Given the description of an element on the screen output the (x, y) to click on. 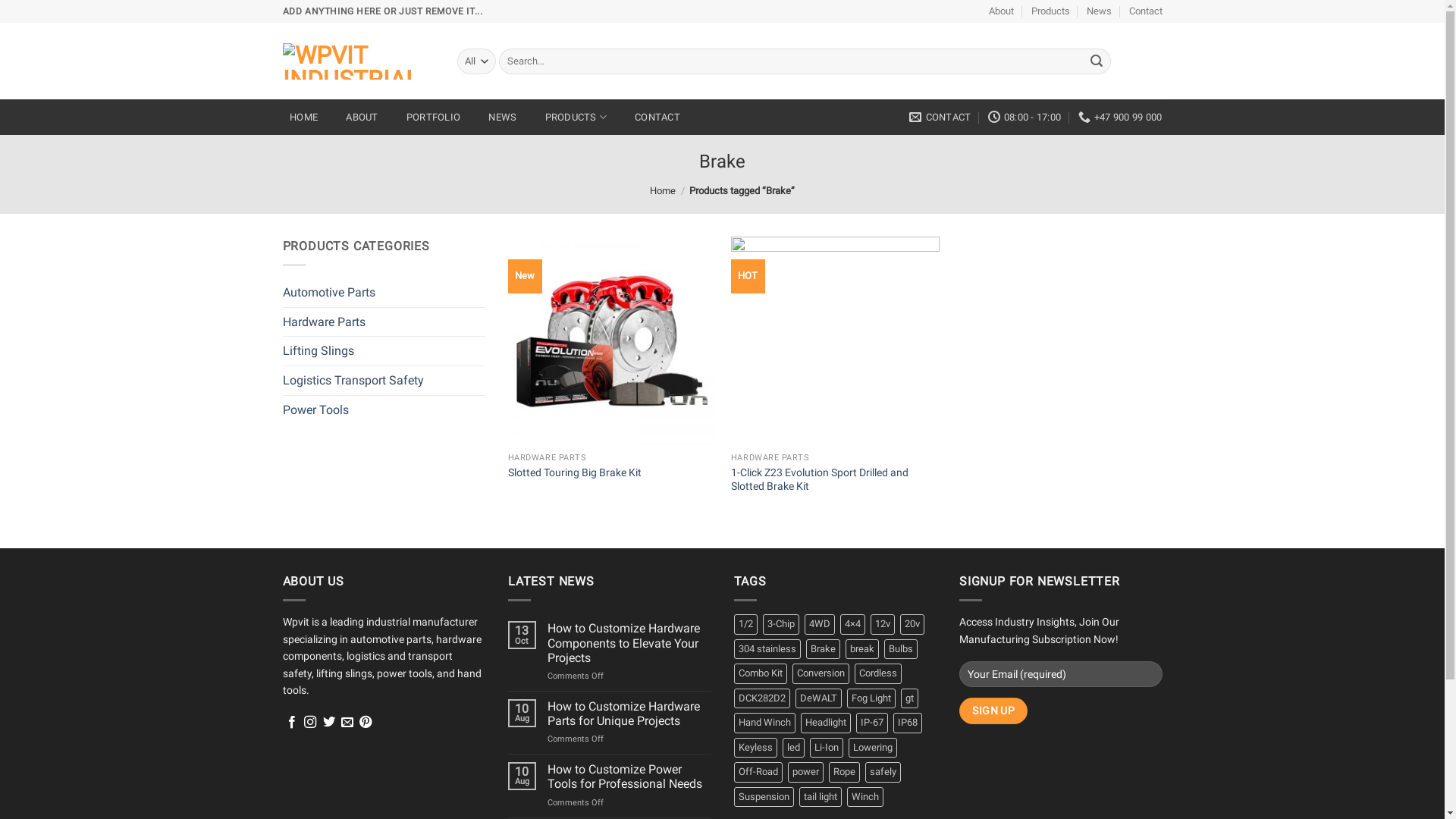
gt Element type: text (909, 698)
Products Element type: text (1050, 11)
break Element type: text (861, 648)
ABOUT Element type: text (361, 116)
How to Customize Power Tools for Professional Needs Element type: text (629, 776)
Follow on Facebook Element type: hover (291, 722)
Winch Element type: text (864, 796)
Contact Element type: text (1144, 11)
How to Customize Hardware Parts for Unique Projects Element type: text (629, 713)
Li-Ion Element type: text (826, 747)
304 stainless Element type: text (767, 648)
PORTFOLIO Element type: text (432, 116)
Wpvit Industrial Solutions: Safety, Lifting, and Tools Element type: hover (357, 60)
Keyless Element type: text (755, 747)
+47 900 99 000 Element type: text (1120, 117)
Search Element type: text (1096, 61)
IP-67 Element type: text (871, 722)
Fog Light Element type: text (870, 698)
DCK282D2 Element type: text (762, 698)
About Element type: text (1000, 11)
Brake Element type: text (822, 648)
Follow on Pinterest Element type: hover (365, 722)
12v Element type: text (882, 623)
HOME Element type: text (303, 116)
power Element type: text (804, 771)
led Element type: text (793, 747)
IP68 Element type: text (907, 722)
Sign Up Element type: text (993, 710)
1/2 Element type: text (745, 623)
CONTACT Element type: text (939, 117)
Home Element type: text (662, 190)
Rope Element type: text (843, 771)
Power Tools Element type: text (383, 409)
safely Element type: text (882, 771)
tail light Element type: text (820, 796)
NEWS Element type: text (502, 116)
Send us an email Element type: hover (347, 722)
Combo Kit Element type: text (760, 673)
DeWALT Element type: text (817, 698)
Lowering Element type: text (871, 747)
Headlight Element type: text (825, 722)
Off-Road Element type: text (758, 771)
Hardware Parts Element type: text (383, 321)
Follow on Instagram Element type: hover (310, 722)
Conversion Element type: text (819, 673)
3-Chip Element type: text (780, 623)
Skip to content Element type: text (0, 0)
News Element type: text (1098, 11)
08:00 - 17:00 Element type: text (1024, 117)
Logistics Transport Safety Element type: text (383, 380)
PRODUCTS Element type: text (575, 116)
Slotted Touring Big Brake Kit Element type: text (574, 472)
Lifting Slings Element type: text (383, 350)
Follow on Twitter Element type: hover (329, 722)
Bulbs Element type: text (900, 648)
Cordless Element type: text (876, 673)
Hand Winch Element type: text (764, 722)
Suspension Element type: text (763, 796)
4WD Element type: text (818, 623)
1-Click Z23 Evolution Sport Drilled and Slotted Brake Kit Element type: text (835, 478)
CONTACT Element type: text (657, 116)
Automotive Parts Element type: text (383, 292)
20v Element type: text (911, 623)
